Given the description of an element on the screen output the (x, y) to click on. 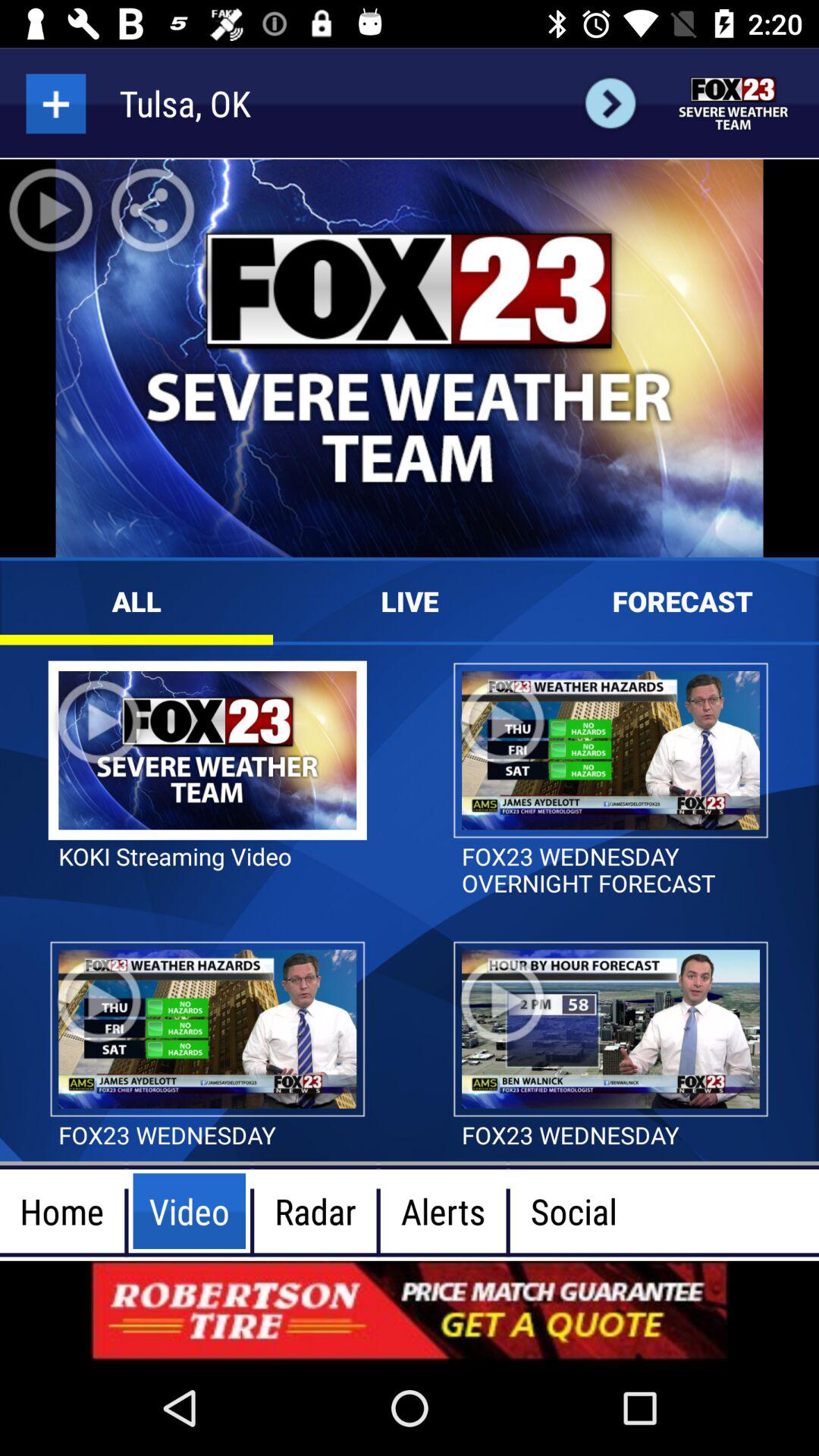
advertisement (409, 1310)
